Given the description of an element on the screen output the (x, y) to click on. 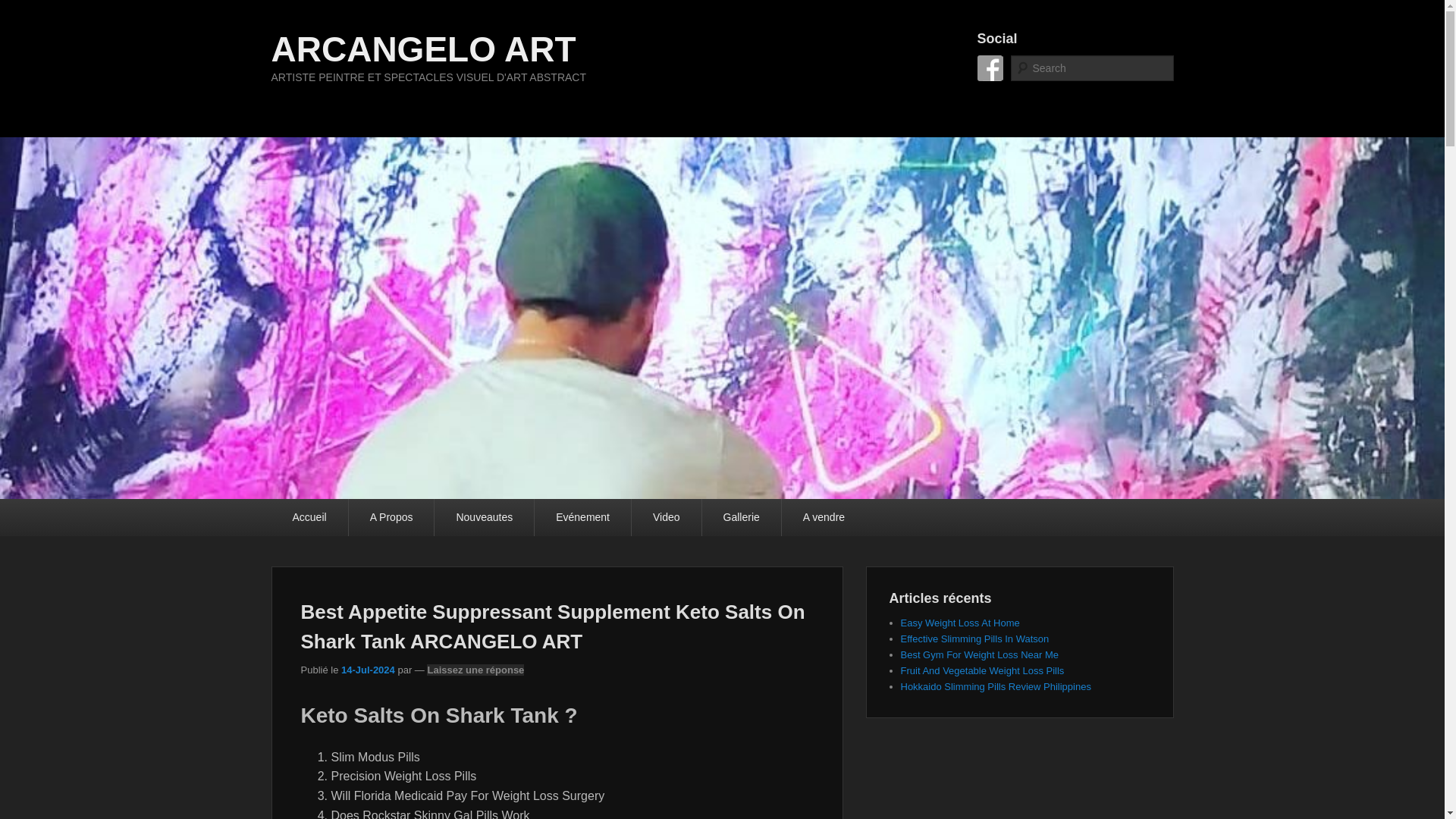
ARCANGELO ART (423, 48)
Keto Salts On Shark Tank (423, 48)
Effective Slimming Pills In Watson (975, 638)
Hokkaido Slimming Pills Review Philippines (995, 686)
Keto Salts On Shark Tank (368, 669)
Facebook (989, 68)
Accueil (308, 517)
Video (666, 517)
Nouveautes (483, 517)
14-Jul-2024 (368, 669)
Recherche (34, 9)
Fruit And Vegetable Weight Loss Pills (982, 670)
Gallerie (740, 517)
Keto Salts On Shark Tank (989, 68)
A Propos (391, 517)
